Given the description of an element on the screen output the (x, y) to click on. 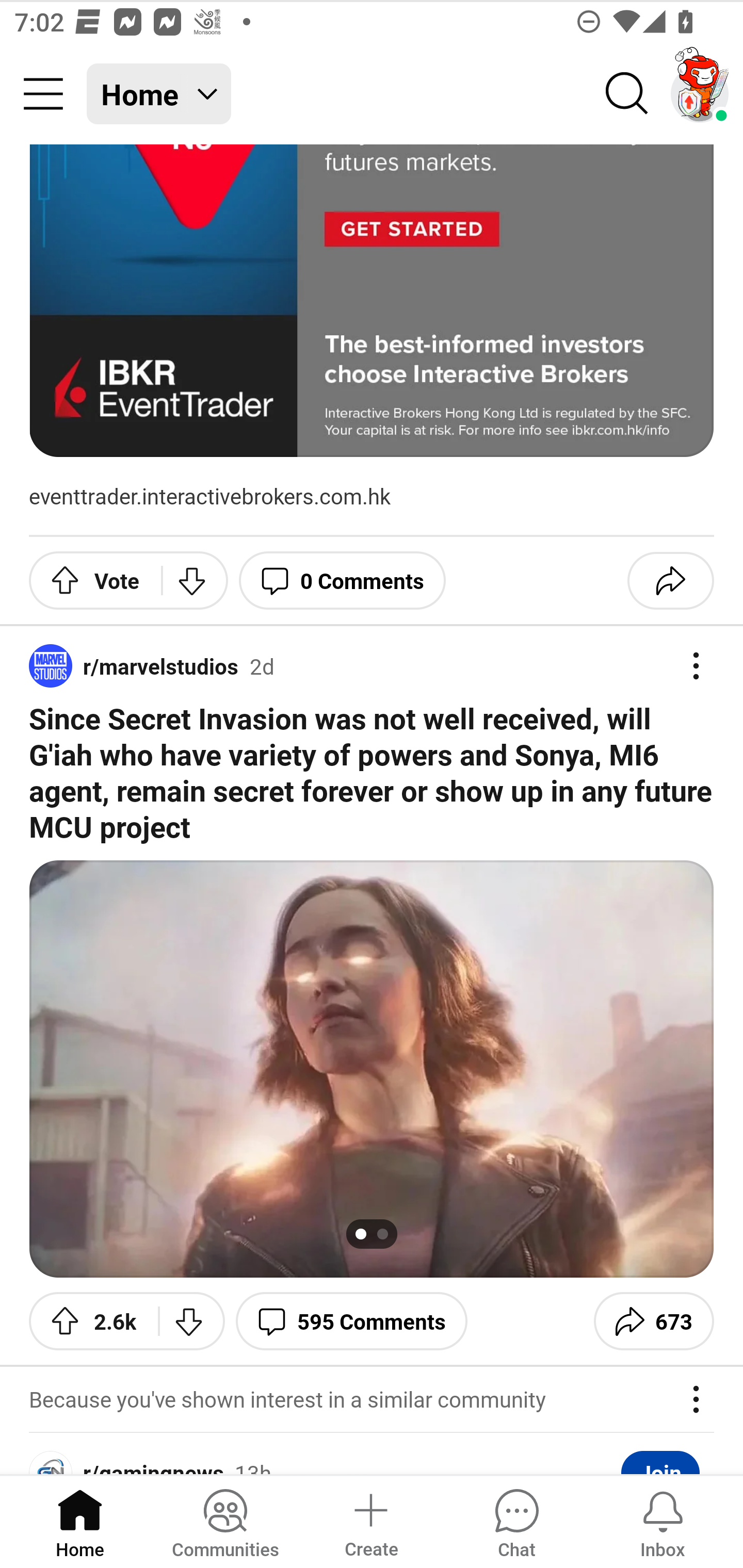
Community menu (43, 93)
Home Home feed (158, 93)
Search (626, 93)
TestAppium002 account (699, 93)
1 of 2, Image, In Image gallery 1 / 2 (371, 1068)
Home (80, 1520)
Communities (225, 1520)
Create a post Create (370, 1520)
Chat (516, 1520)
Inbox (662, 1520)
